Given the description of an element on the screen output the (x, y) to click on. 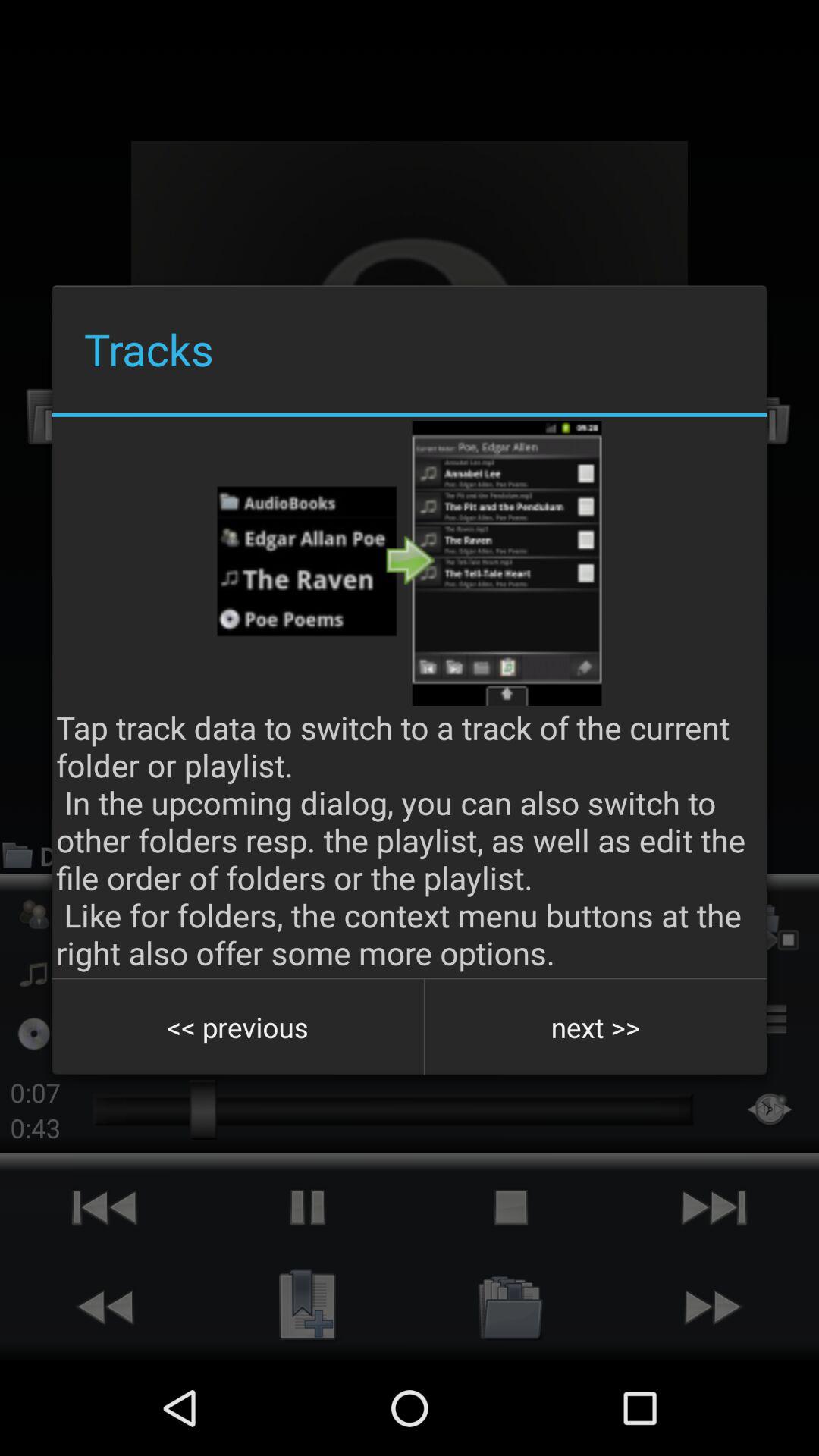
press the icon below tap track data (595, 1026)
